Given the description of an element on the screen output the (x, y) to click on. 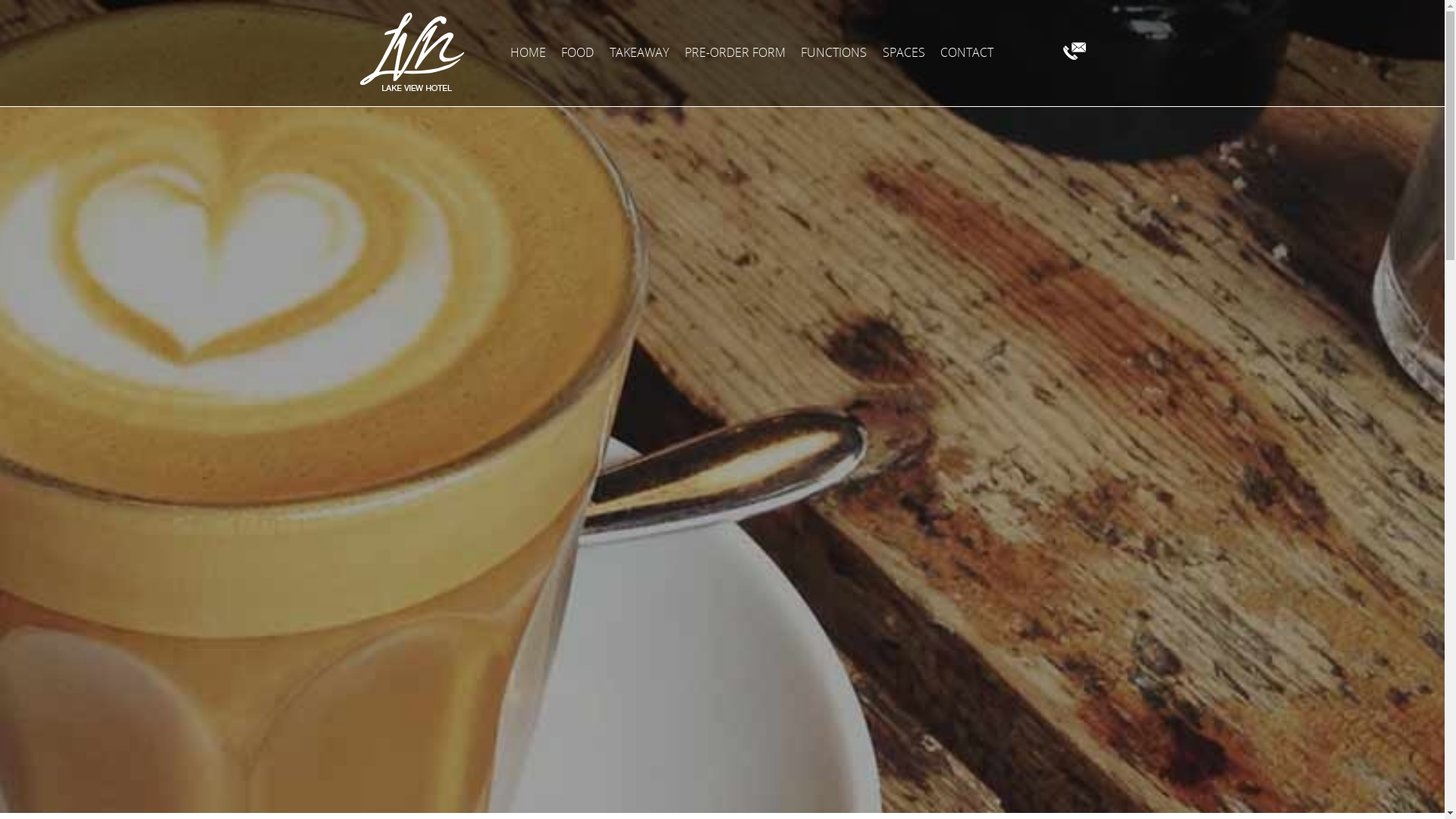
FOOD Element type: text (577, 51)
SPACES Element type: text (903, 51)
TAKEAWAY Element type: text (638, 51)
HOME Element type: text (528, 51)
CONTACT Element type: text (966, 51)
FUNCTIONS Element type: text (833, 51)
PRE-ORDER FORM Element type: text (734, 51)
